Given the description of an element on the screen output the (x, y) to click on. 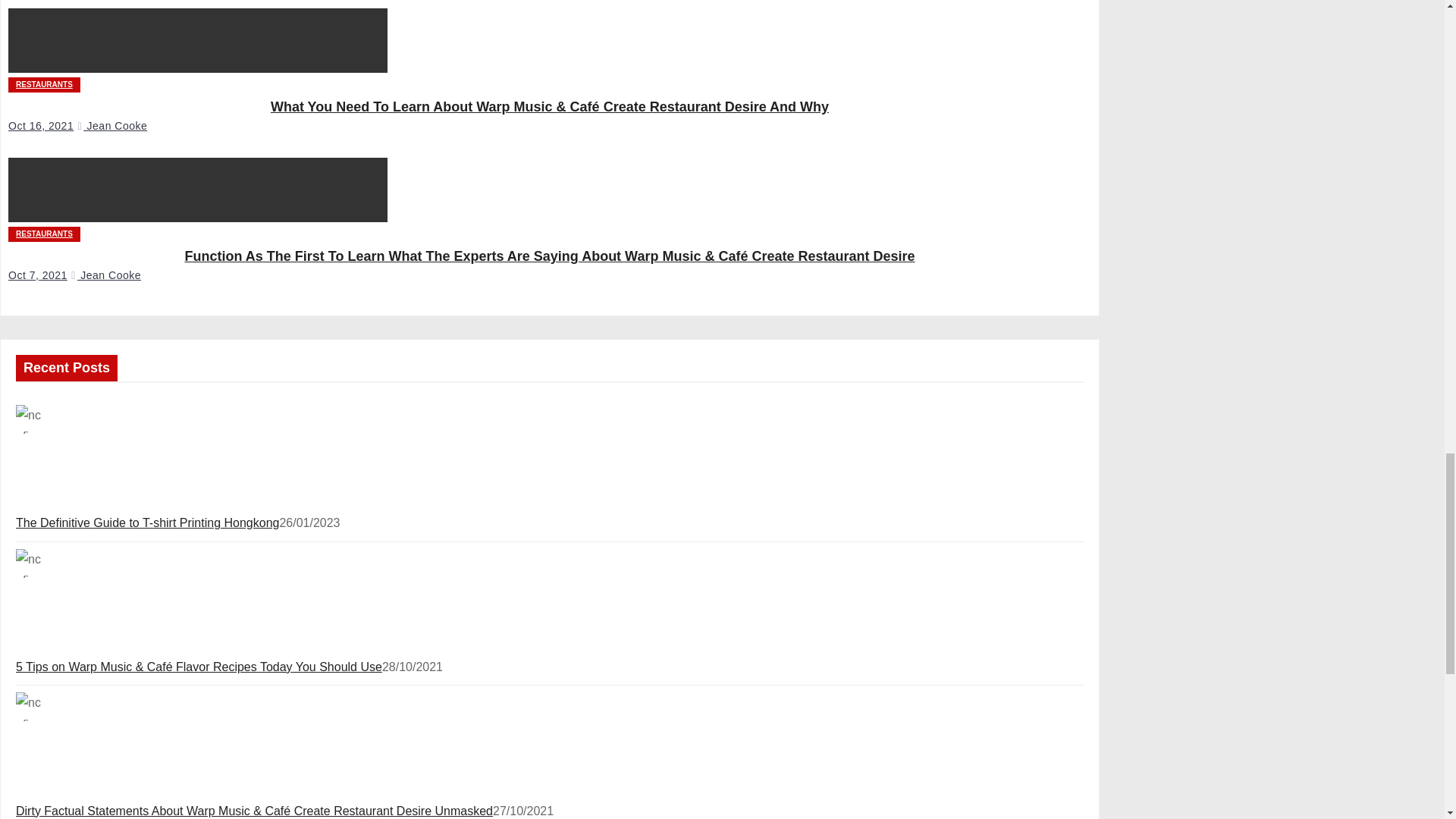
Oct 16, 2021 (41, 125)
The Definitive Guide to T-shirt Printing Hongkong 3 (30, 419)
RESTAURANTS (44, 84)
